Given the description of an element on the screen output the (x, y) to click on. 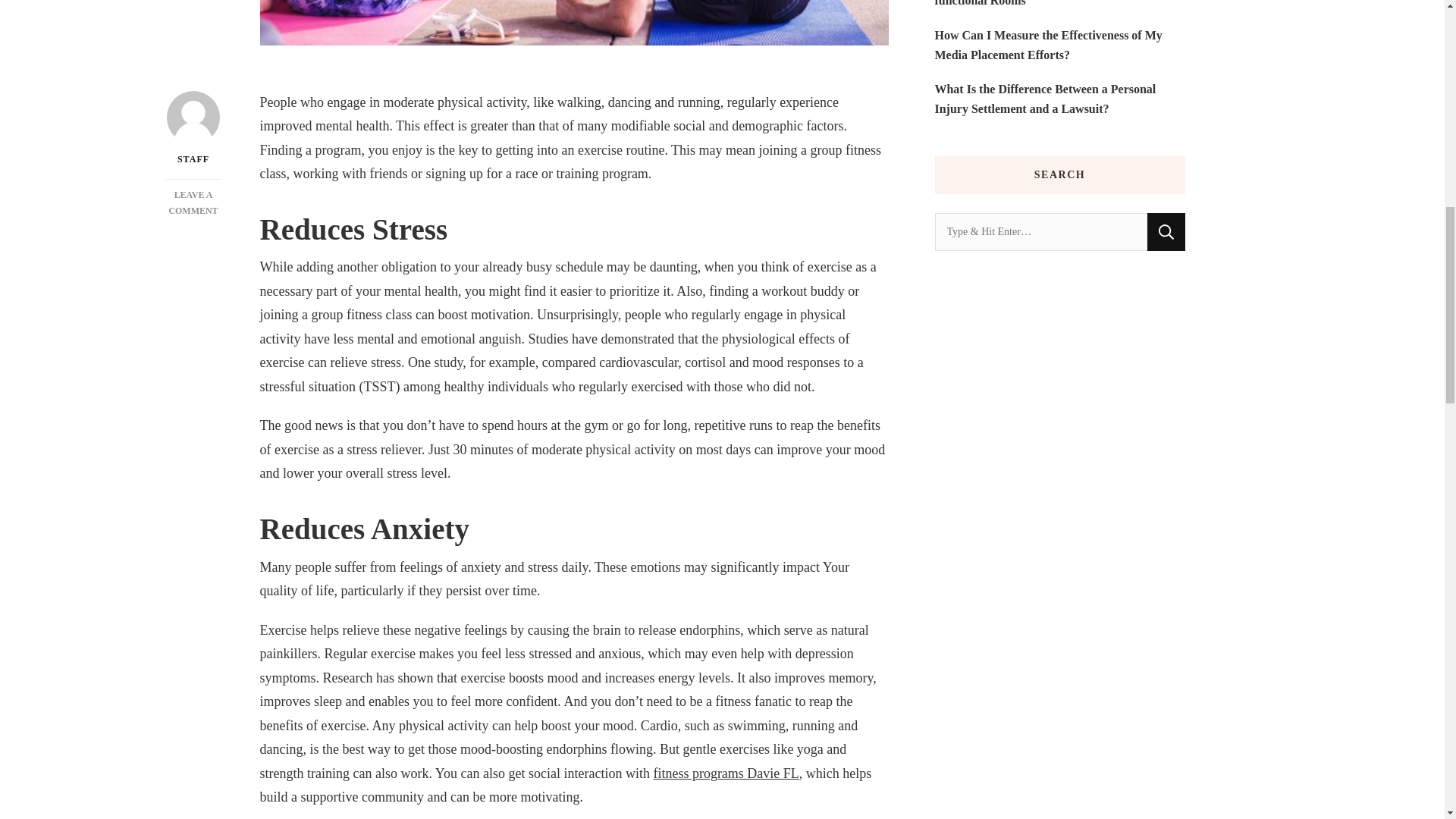
fitness programs Davie FL (724, 773)
Search (1166, 231)
Search (1166, 231)
